Given the description of an element on the screen output the (x, y) to click on. 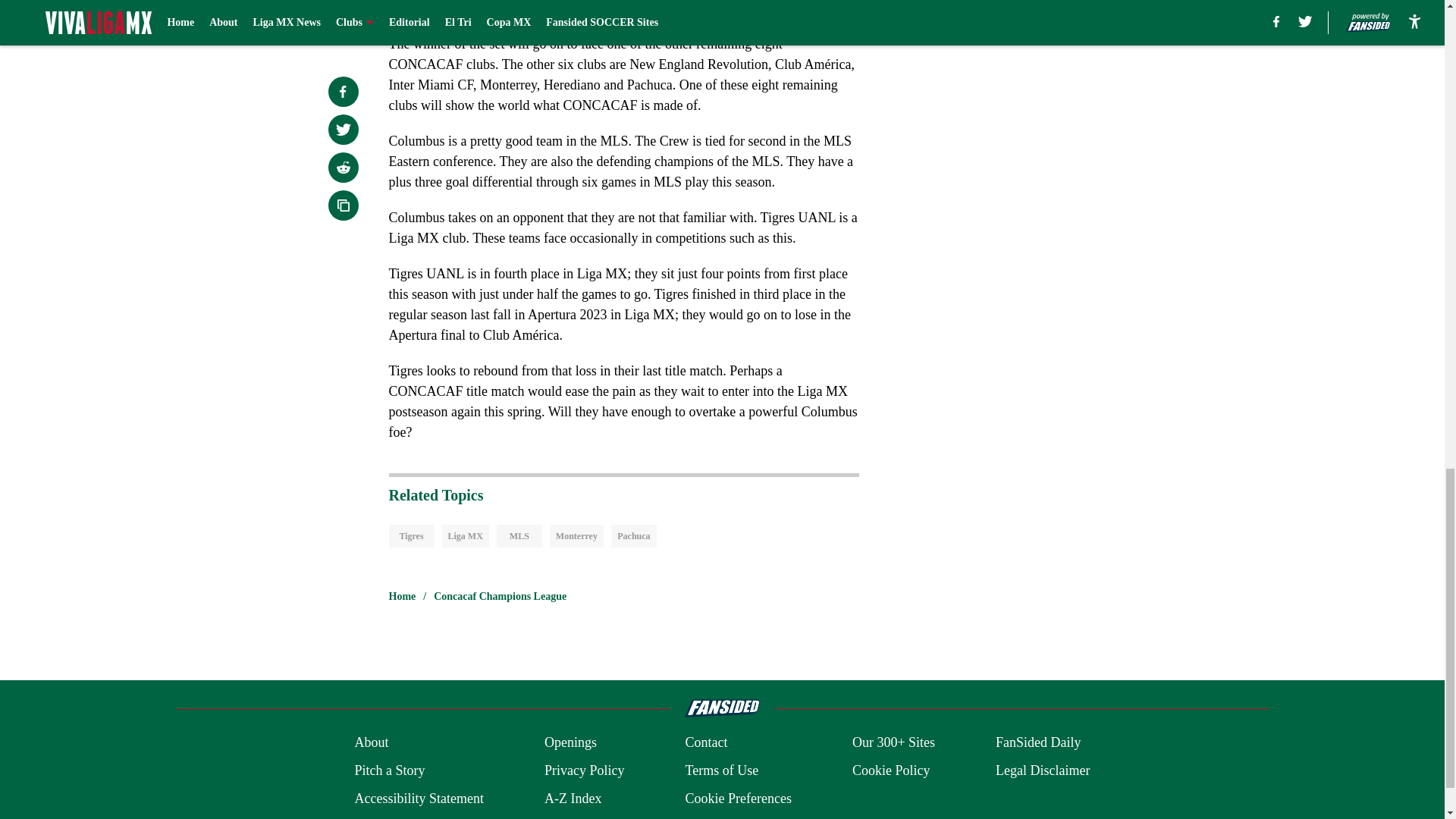
MLS (518, 535)
Tigres (410, 535)
Liga MX (464, 535)
